Given the description of an element on the screen output the (x, y) to click on. 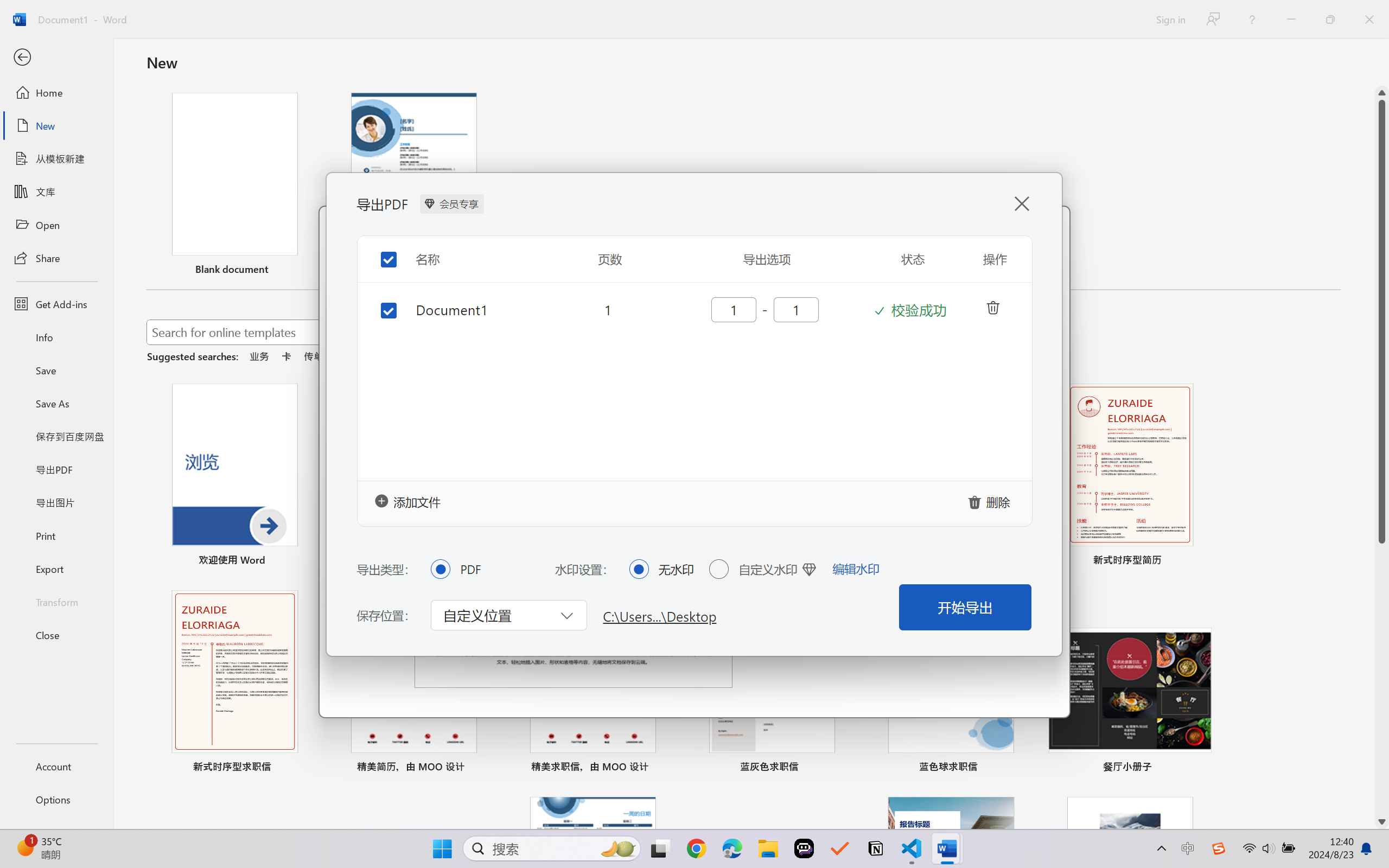
Info (56, 337)
clearAllFile (990, 501)
Document1 (477, 308)
1 (607, 308)
